Given the description of an element on the screen output the (x, y) to click on. 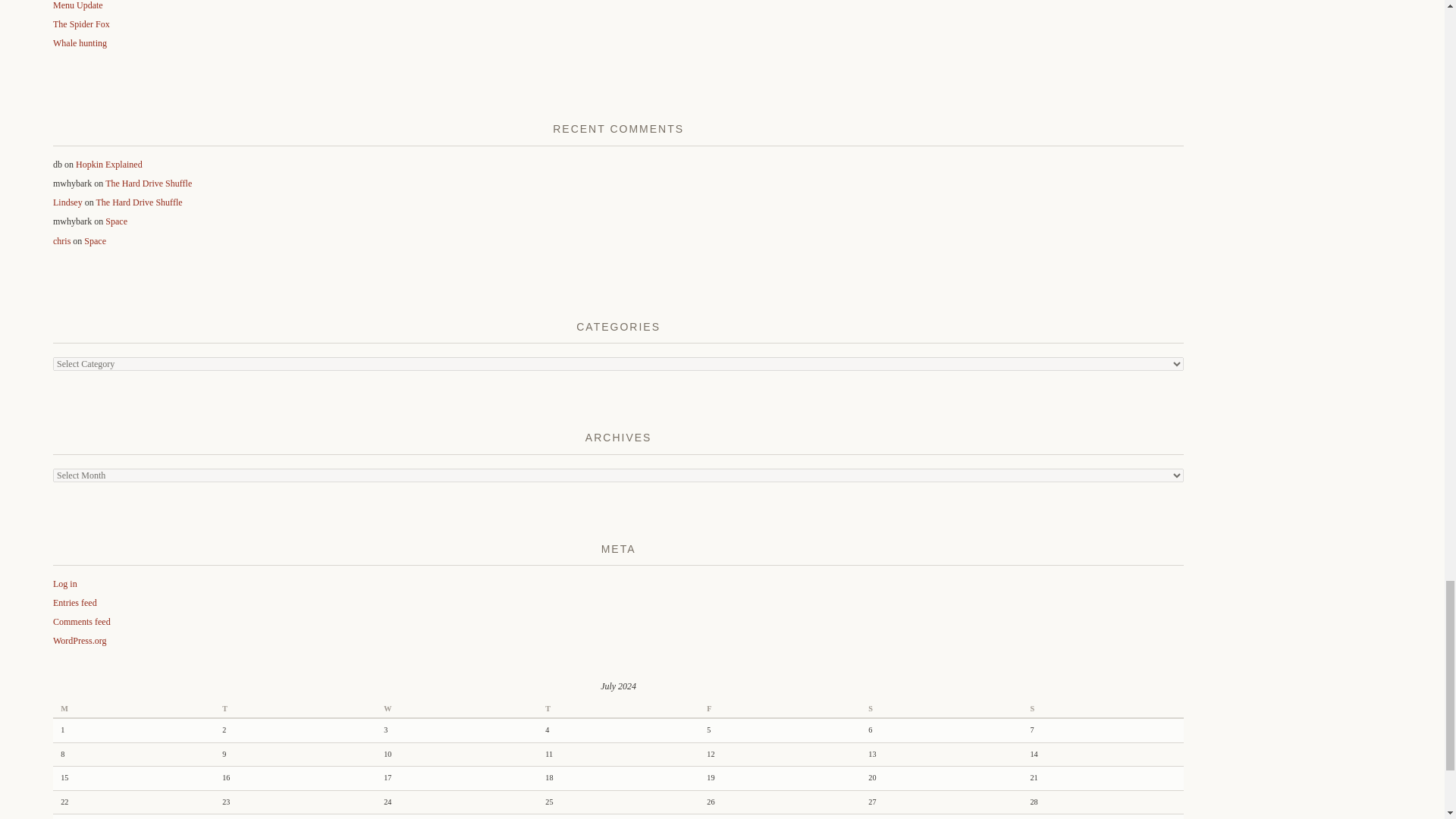
Tuesday (294, 710)
The Hard Drive Shuffle (148, 183)
Wednesday (456, 710)
Comments feed (81, 621)
Friday (779, 710)
Monday (133, 710)
Space (116, 221)
The Hard Drive Shuffle (139, 202)
Hopkin Explained (108, 163)
Whale hunting (79, 42)
chris (60, 240)
Sunday (1102, 710)
Thursday (617, 710)
Lindsey (67, 202)
Log in (64, 583)
